Given the description of an element on the screen output the (x, y) to click on. 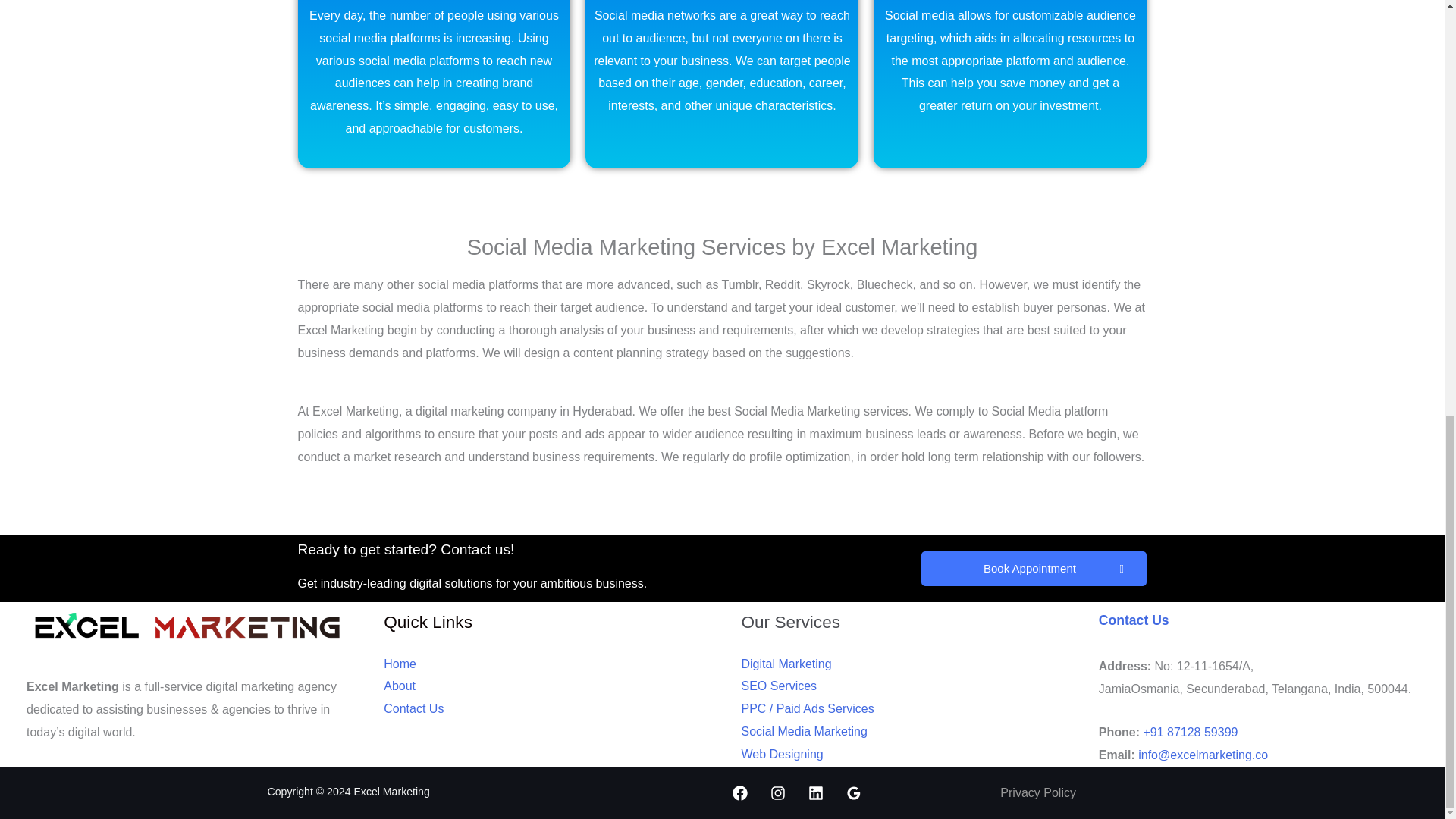
Contact Us (1134, 620)
Home (400, 663)
SEO Services (778, 685)
Book Appointment (1032, 568)
Digital Marketing (786, 663)
Contact Us (414, 707)
Social Media Marketing (804, 730)
Web Designing (782, 753)
About (399, 685)
